Given the description of an element on the screen output the (x, y) to click on. 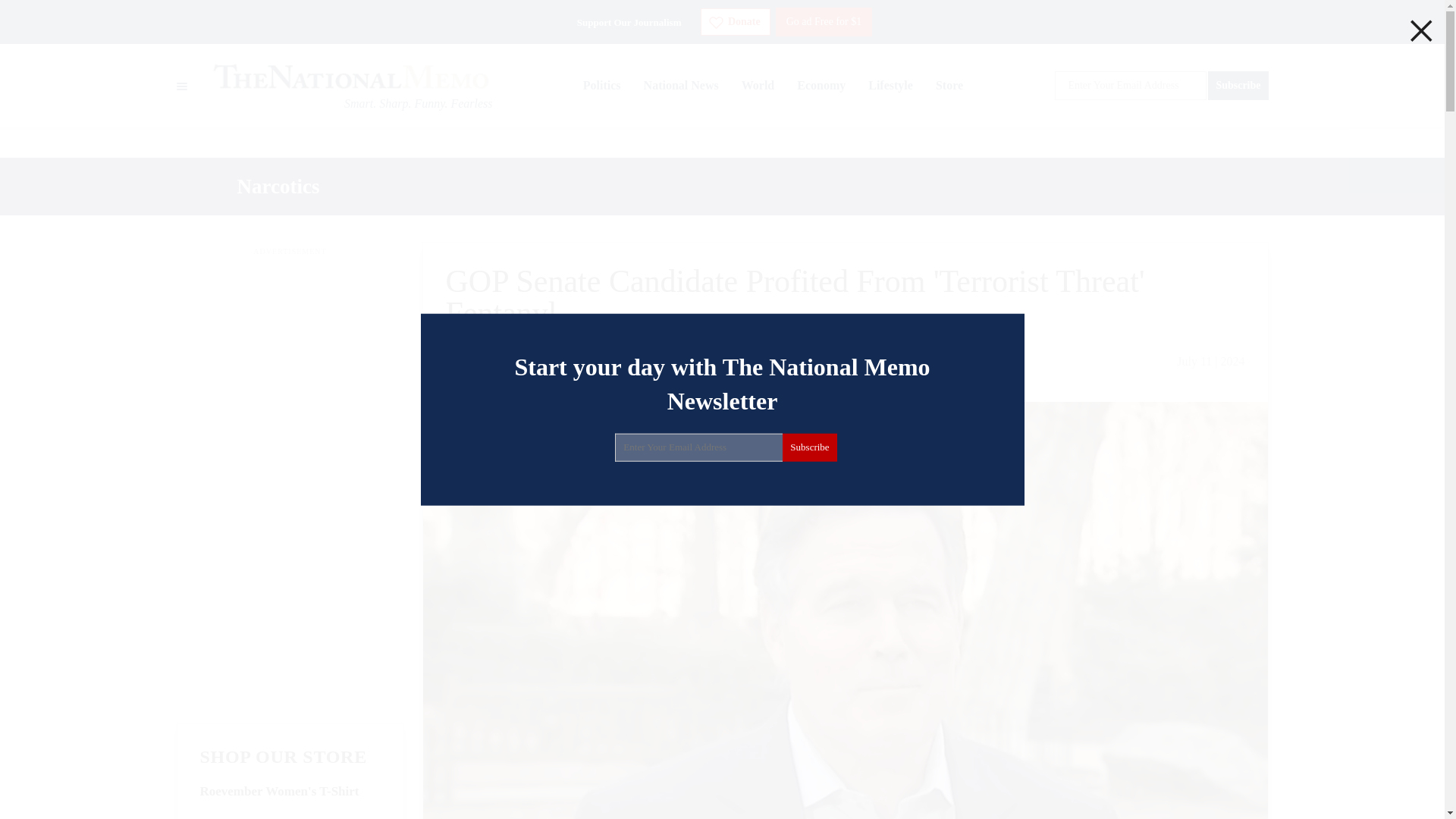
Subscribe (1238, 85)
Subscribe (809, 447)
